Given the description of an element on the screen output the (x, y) to click on. 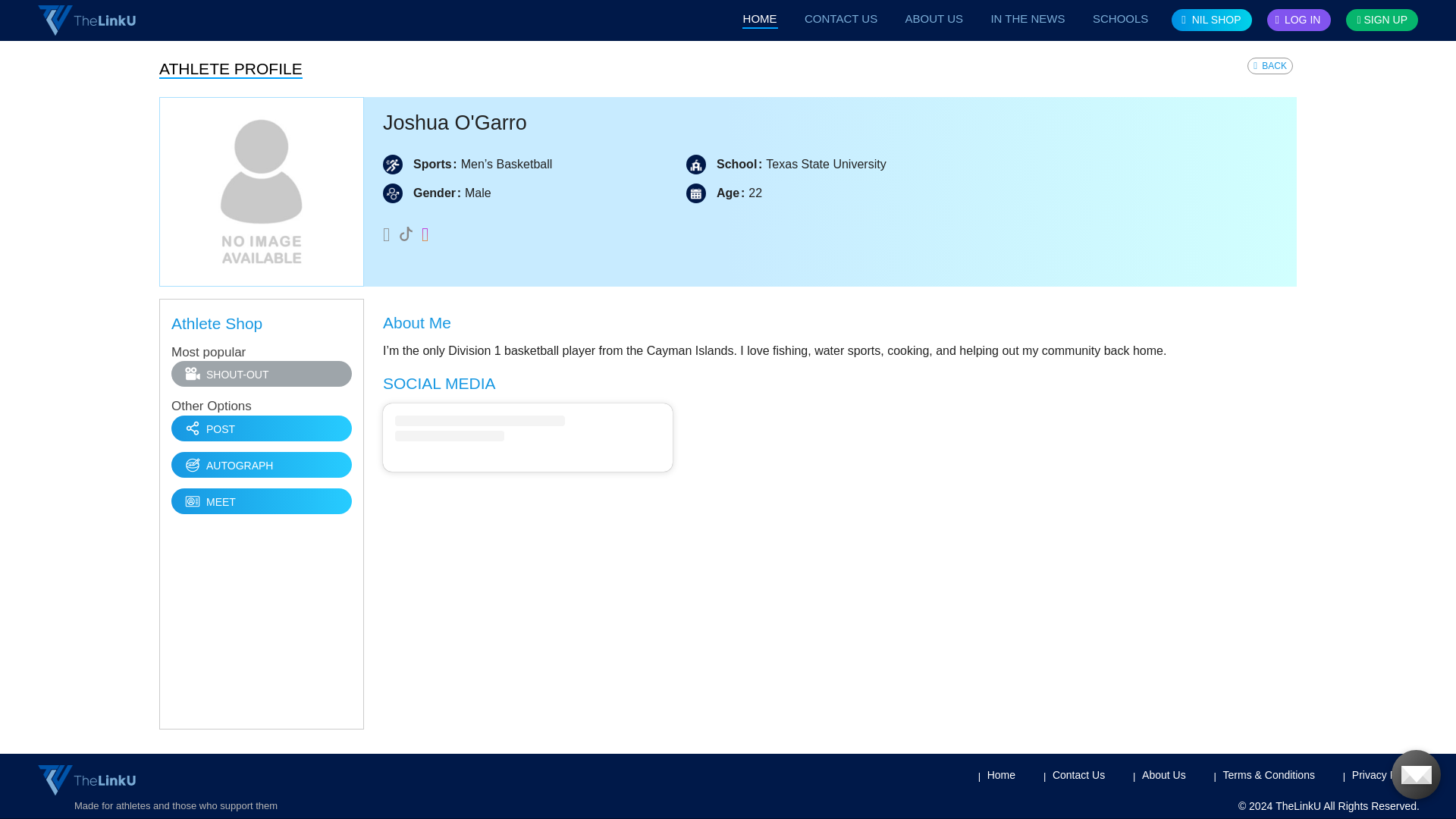
SHOUT-OUT (261, 373)
SCHOOLS (1120, 18)
ABOUT US (933, 18)
CONTACT US (841, 18)
LOG IN (1299, 20)
IN THE NEWS (1027, 18)
SIGN UP (1381, 20)
HOME (759, 18)
MEET (261, 501)
NIL SHOP (1211, 20)
AUTOGRAPH (261, 464)
BACK (1269, 65)
POST (261, 428)
